Given the description of an element on the screen output the (x, y) to click on. 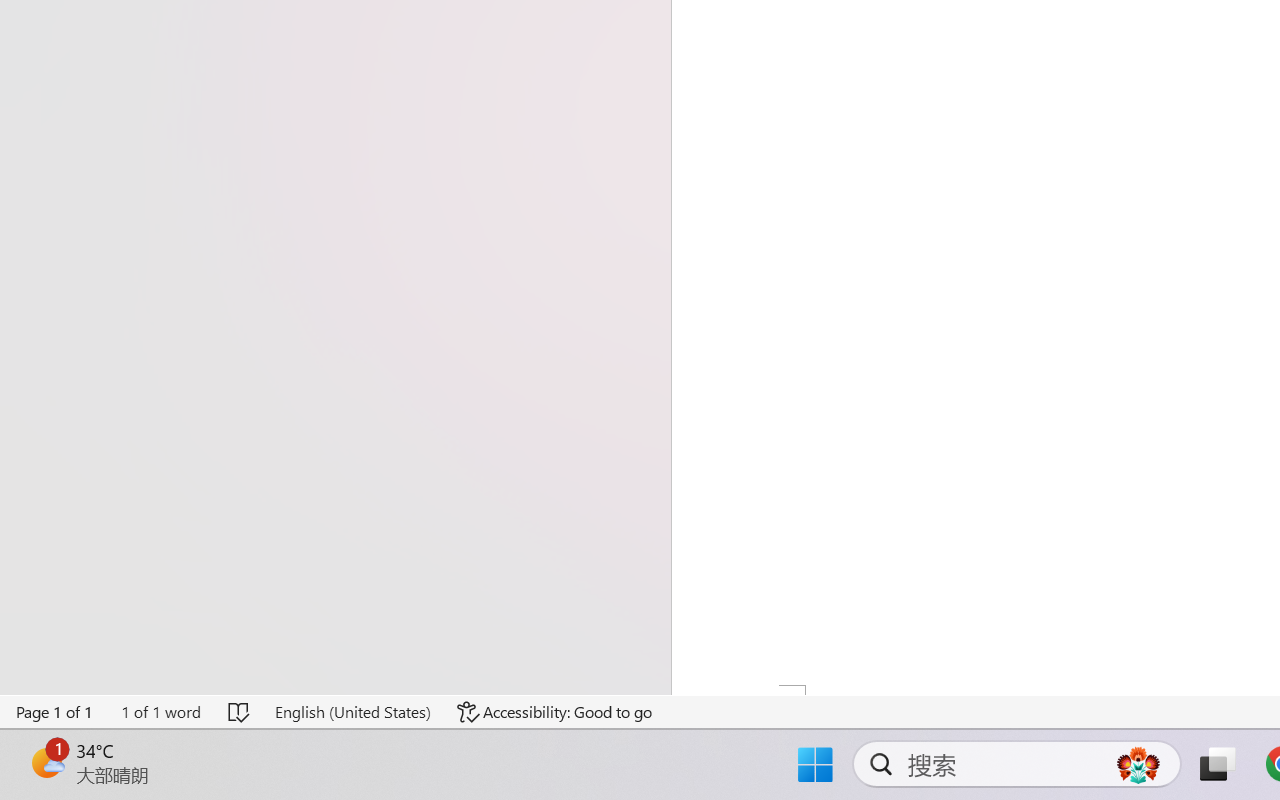
Page Number Page 1 of 1 (55, 712)
